Given the description of an element on the screen output the (x, y) to click on. 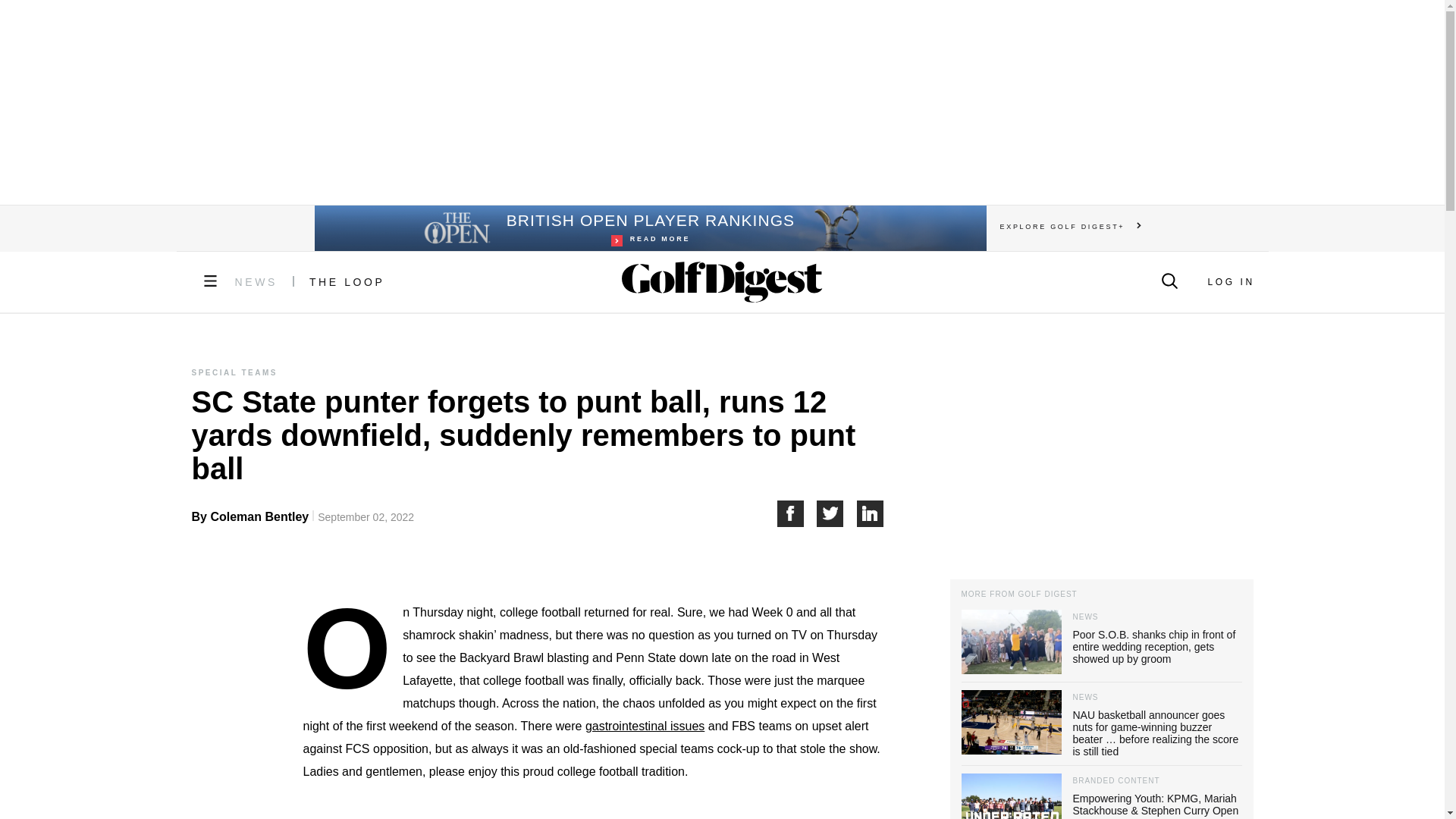
Share on Twitter (836, 513)
THE LOOP (346, 282)
Share on Facebook (649, 227)
NEWS (796, 513)
LOG IN (256, 282)
Share on LinkedIn (1230, 281)
3rd party ad content (870, 513)
